Given the description of an element on the screen output the (x, y) to click on. 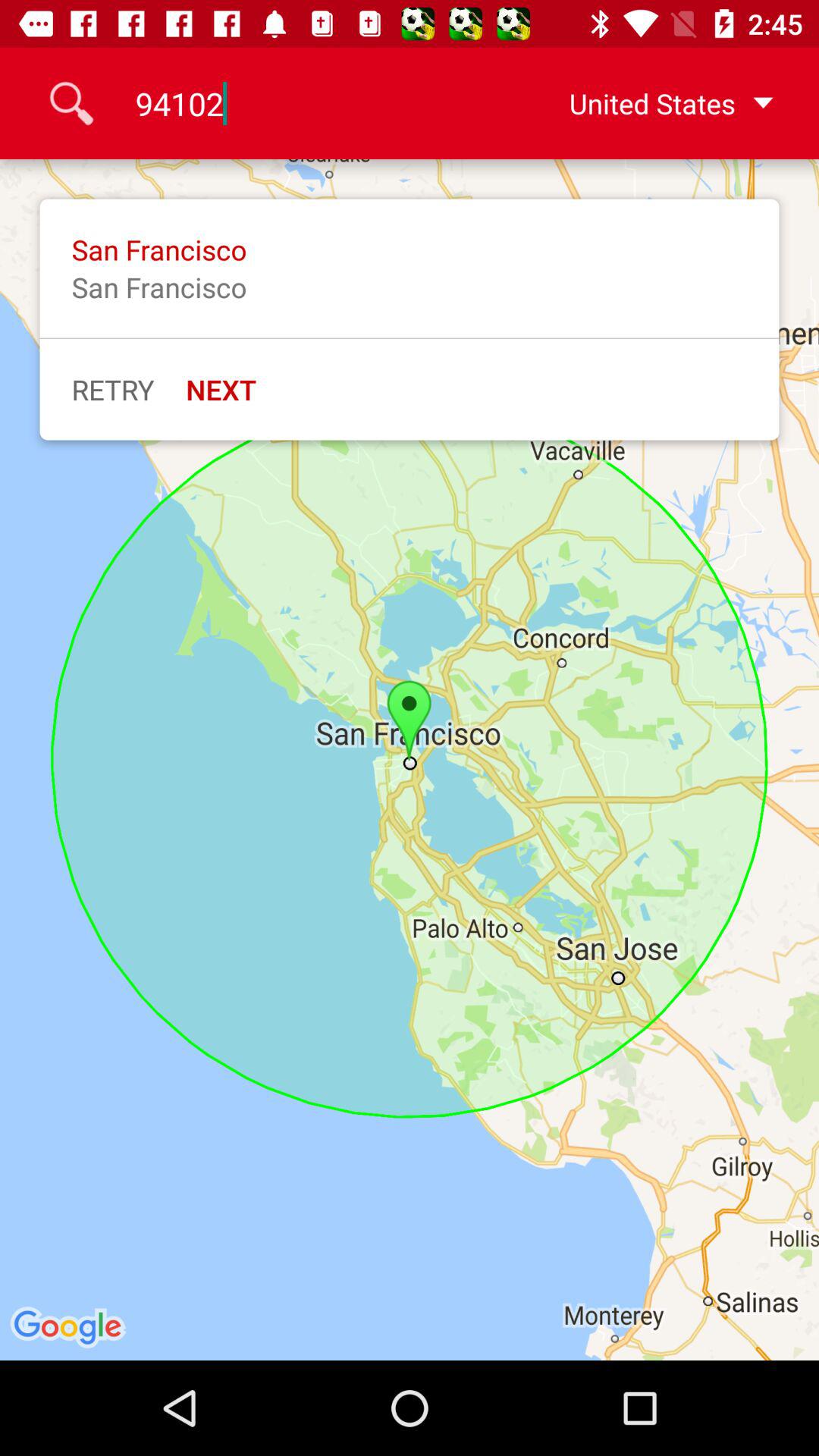
click item next to 94102 (647, 103)
